Given the description of an element on the screen output the (x, y) to click on. 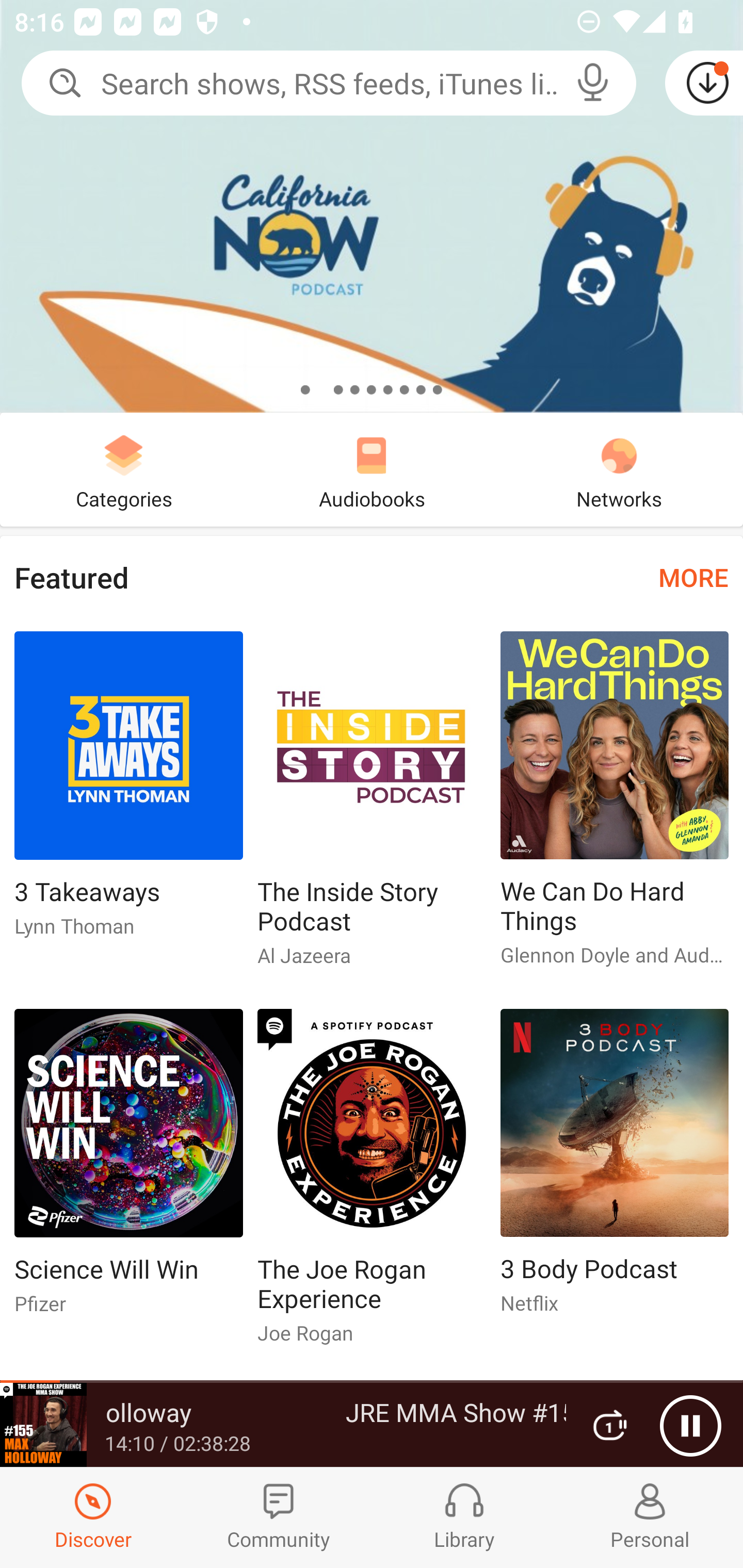
California Now Podcast (371, 206)
Categories (123, 469)
Audiobooks (371, 469)
Networks (619, 469)
MORE (693, 576)
3 Takeaways 3 Takeaways Lynn Thoman (128, 792)
Science Will Win Science Will Win Pfizer (128, 1169)
3 Body Podcast 3 Body Podcast Netflix (614, 1169)
Pause (690, 1425)
Discover (92, 1517)
Community (278, 1517)
Library (464, 1517)
Profiles and Settings Personal (650, 1517)
